Given the description of an element on the screen output the (x, y) to click on. 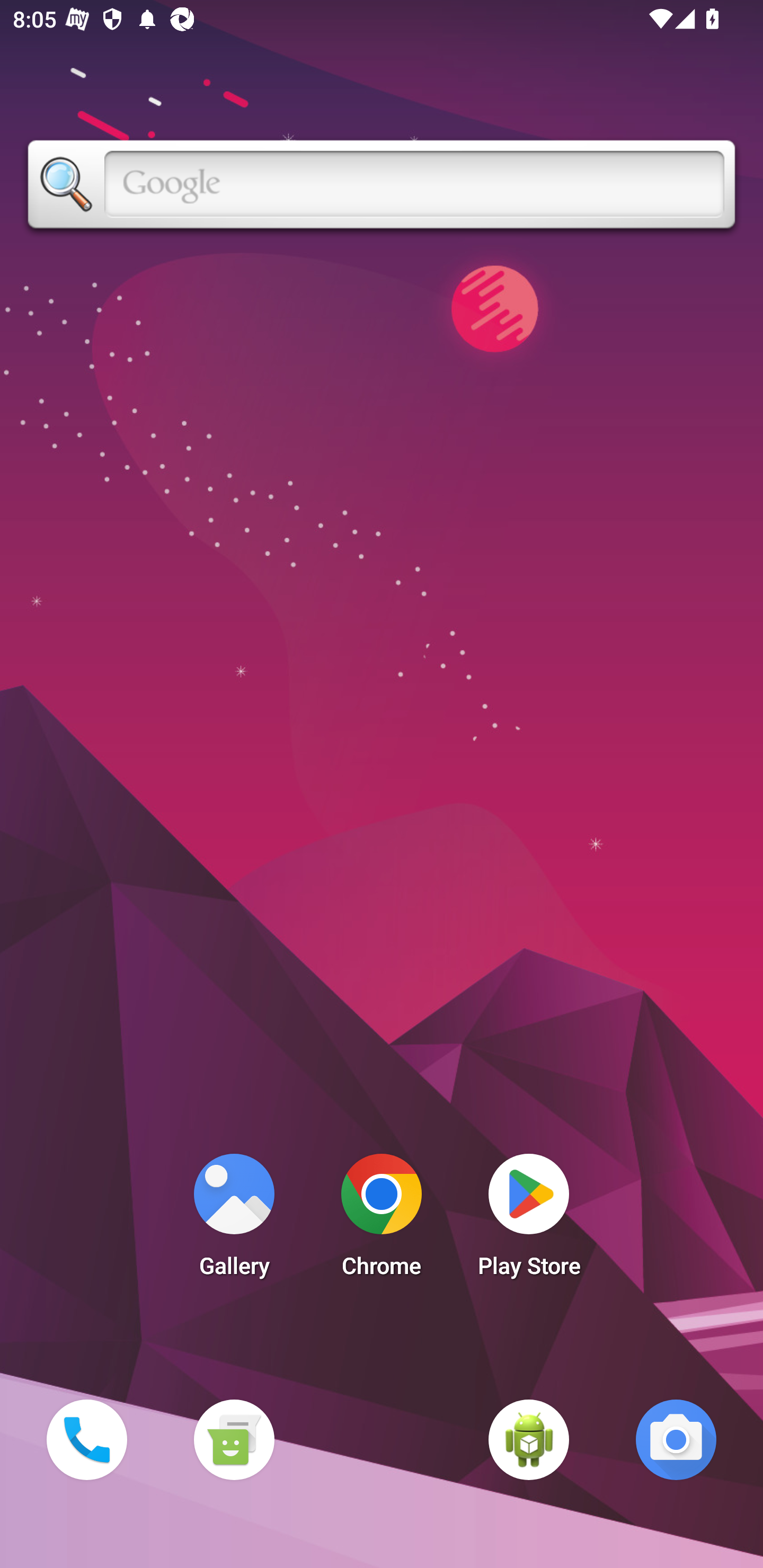
Gallery (233, 1220)
Chrome (381, 1220)
Play Store (528, 1220)
Phone (86, 1439)
Messaging (233, 1439)
WebView Browser Tester (528, 1439)
Camera (676, 1439)
